Given the description of an element on the screen output the (x, y) to click on. 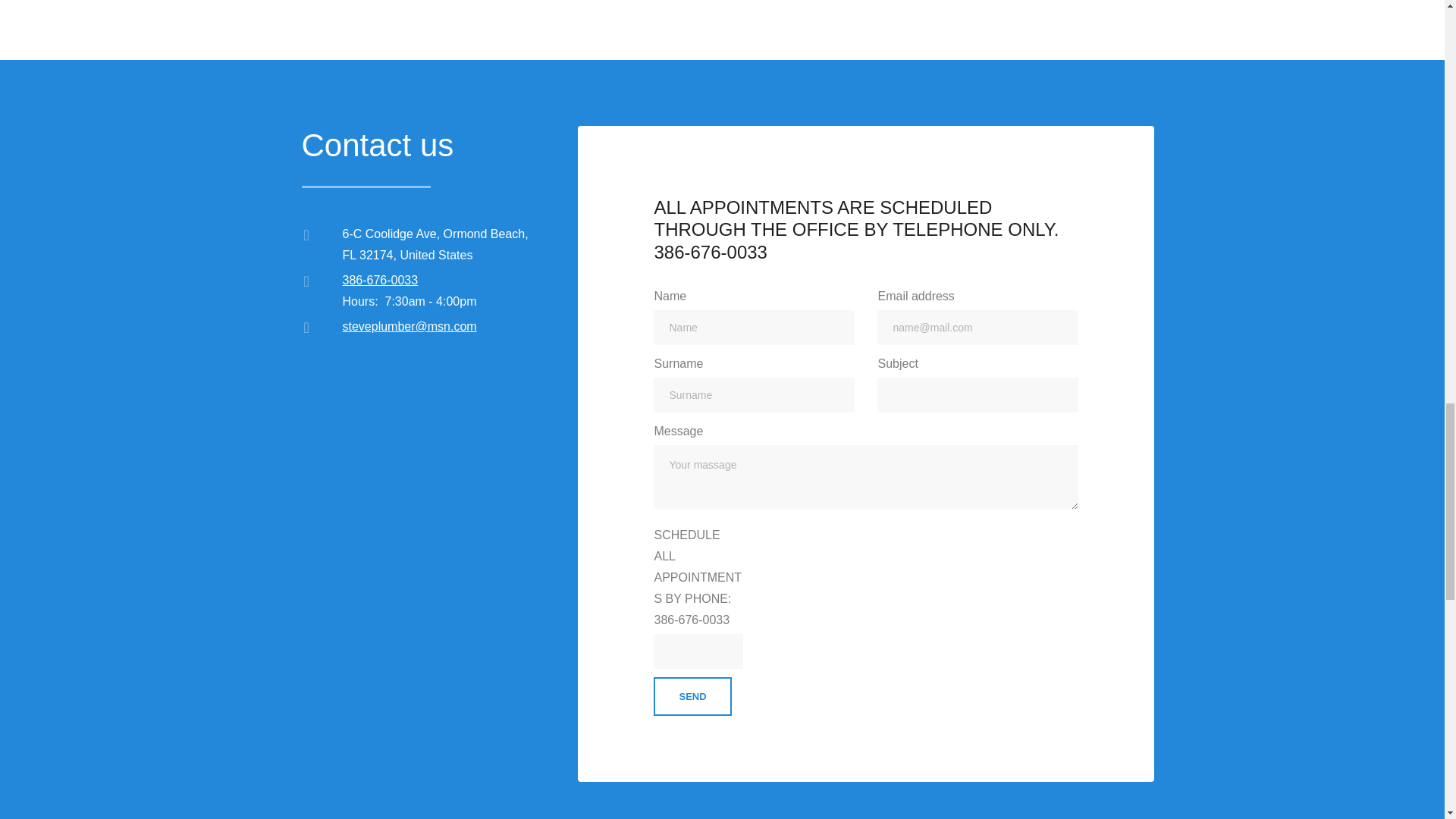
SEND (691, 696)
386-676-0033 (380, 279)
